Given the description of an element on the screen output the (x, y) to click on. 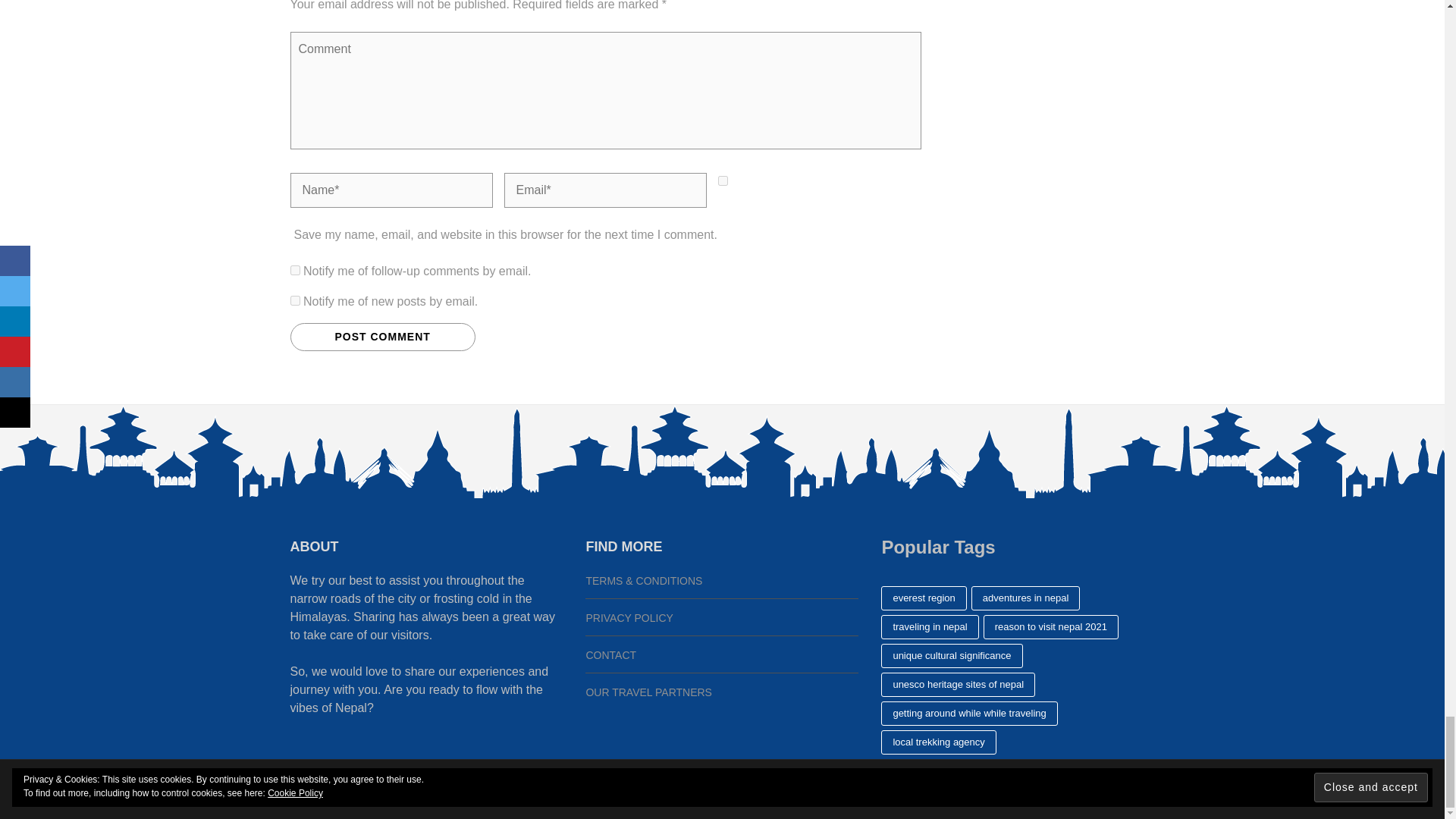
yes (721, 180)
subscribe (294, 270)
Post Comment (381, 336)
subscribe (294, 300)
